Given the description of an element on the screen output the (x, y) to click on. 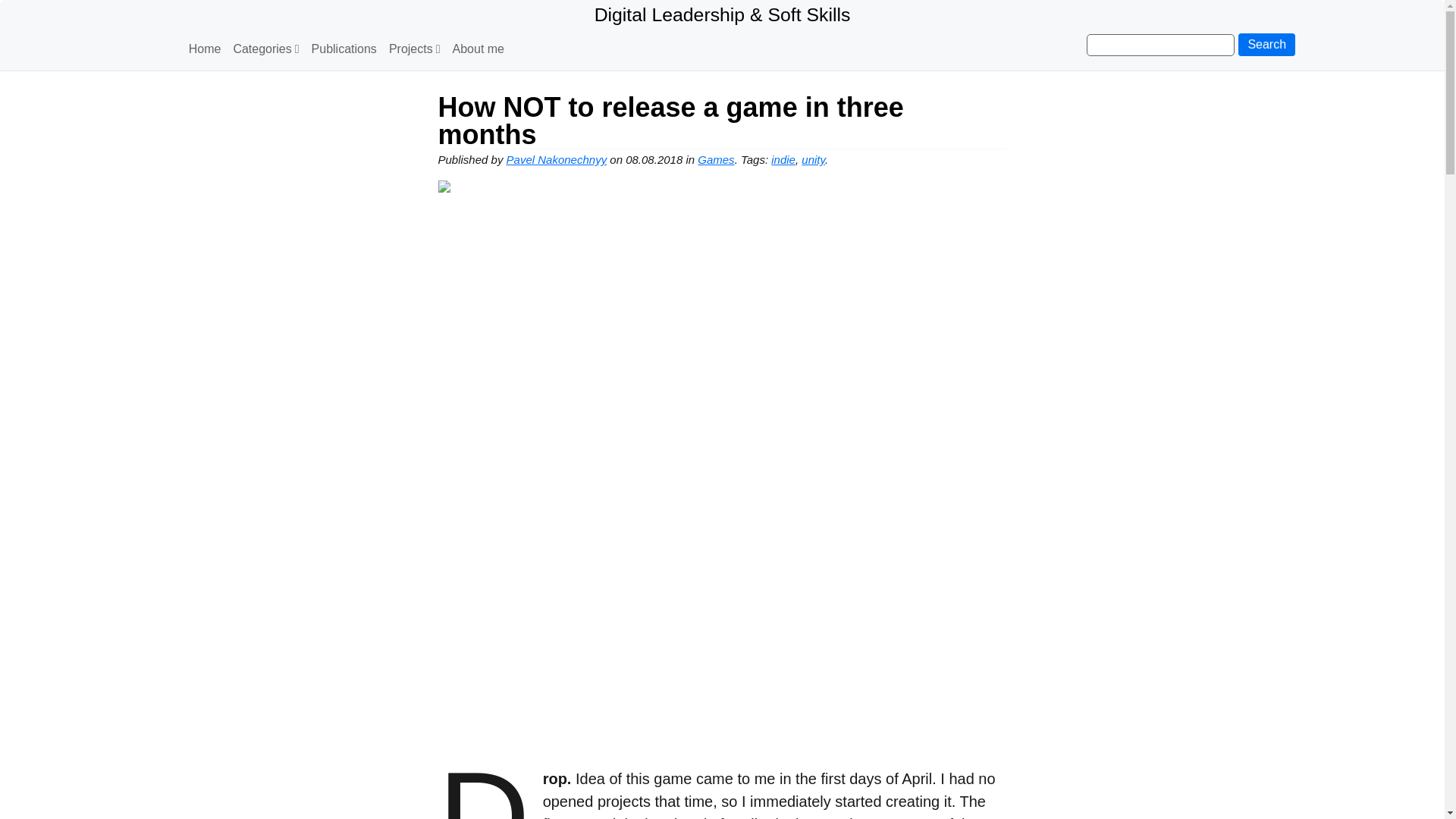
Categories (265, 49)
Games (715, 159)
About me (477, 49)
Pavel Nakonechnyy (556, 159)
Projects (414, 49)
Search (1267, 44)
Search (1267, 44)
Home (205, 49)
Publications (344, 49)
indie (782, 159)
unity (813, 159)
